Given the description of an element on the screen output the (x, y) to click on. 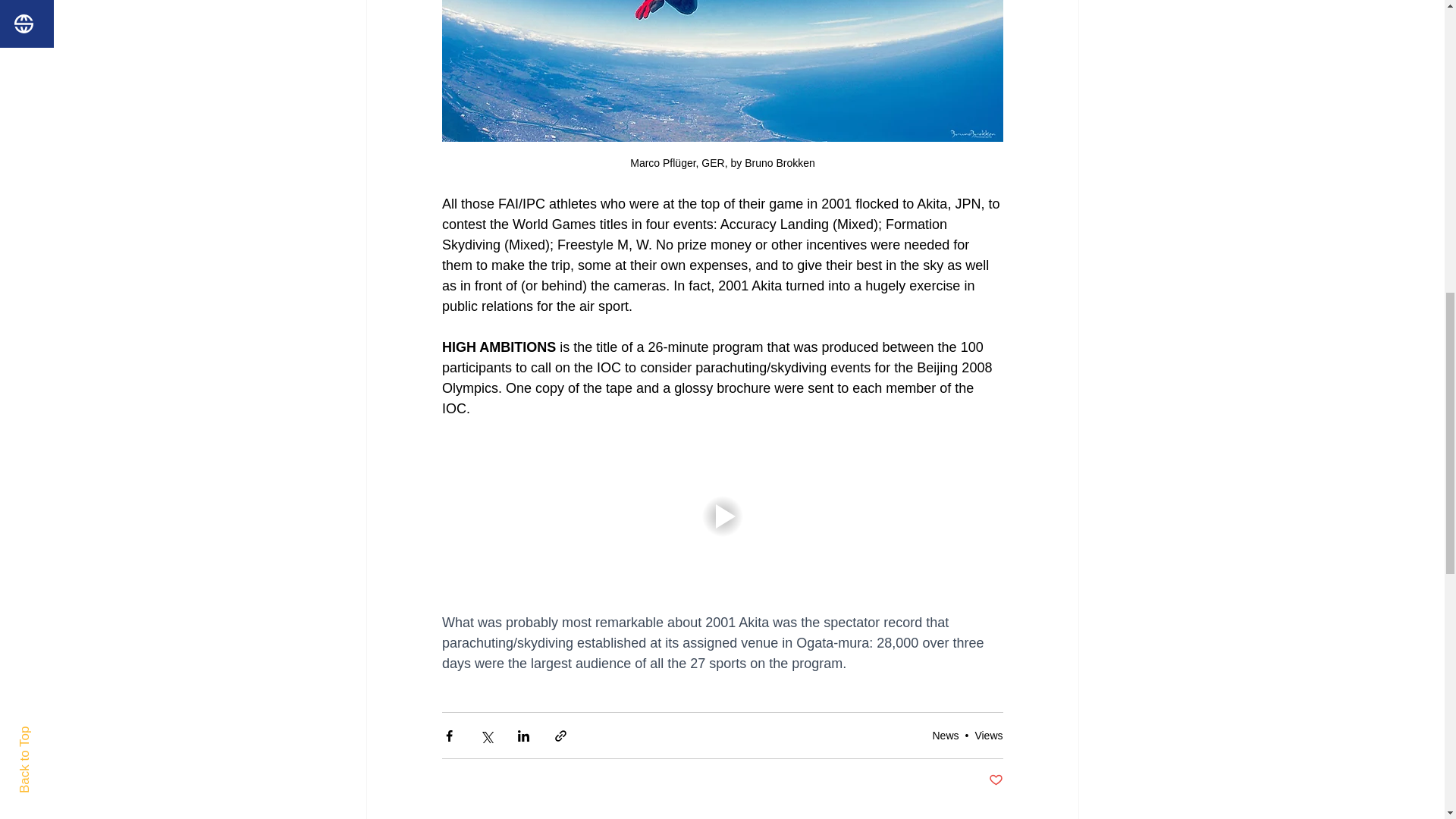
Post not marked as liked (995, 780)
News (944, 735)
Views (988, 735)
